Given the description of an element on the screen output the (x, y) to click on. 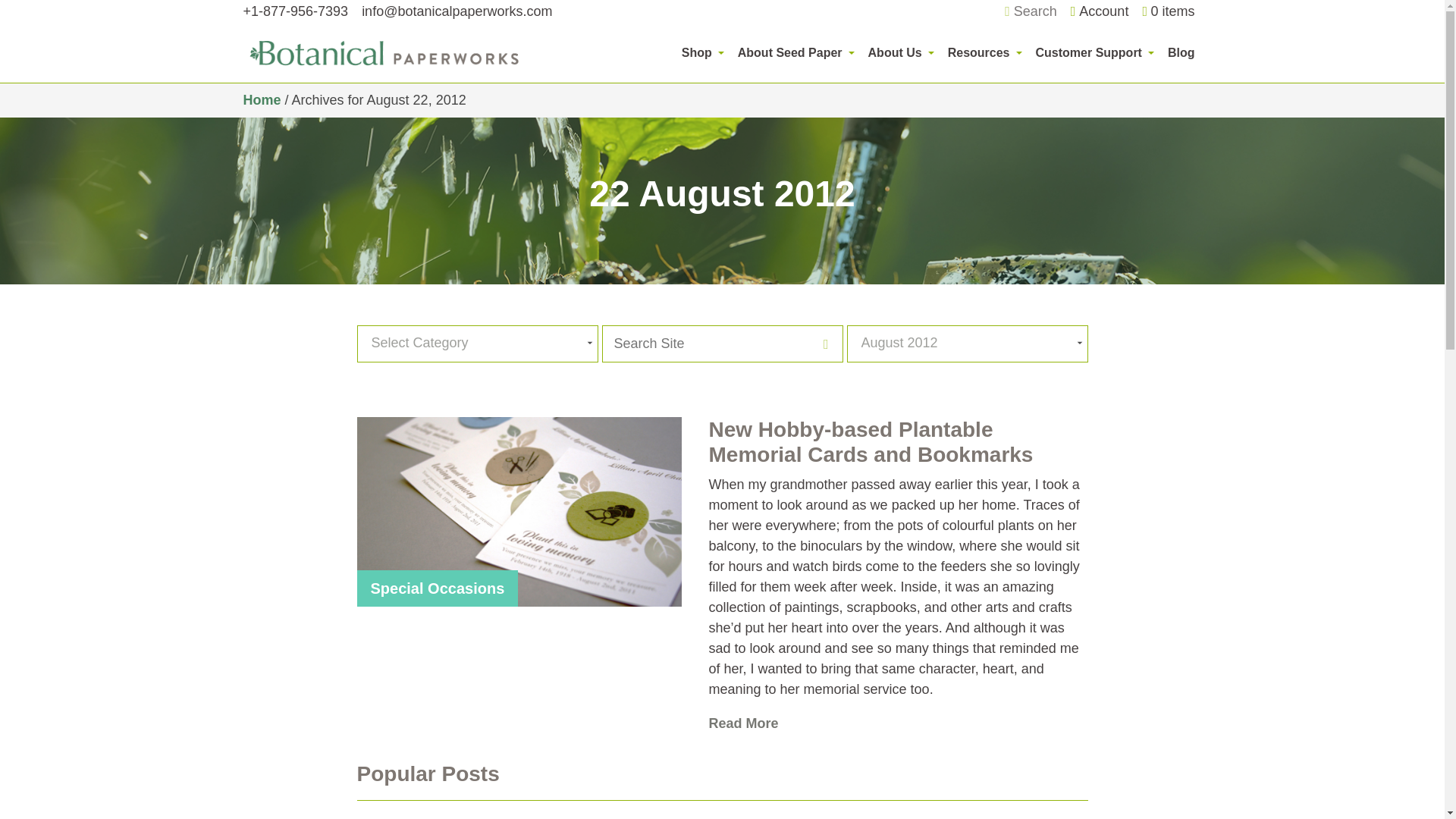
Account (1099, 10)
0 items (1167, 11)
Search (1030, 11)
Start shopping (1167, 11)
Shop (702, 52)
